Given the description of an element on the screen output the (x, y) to click on. 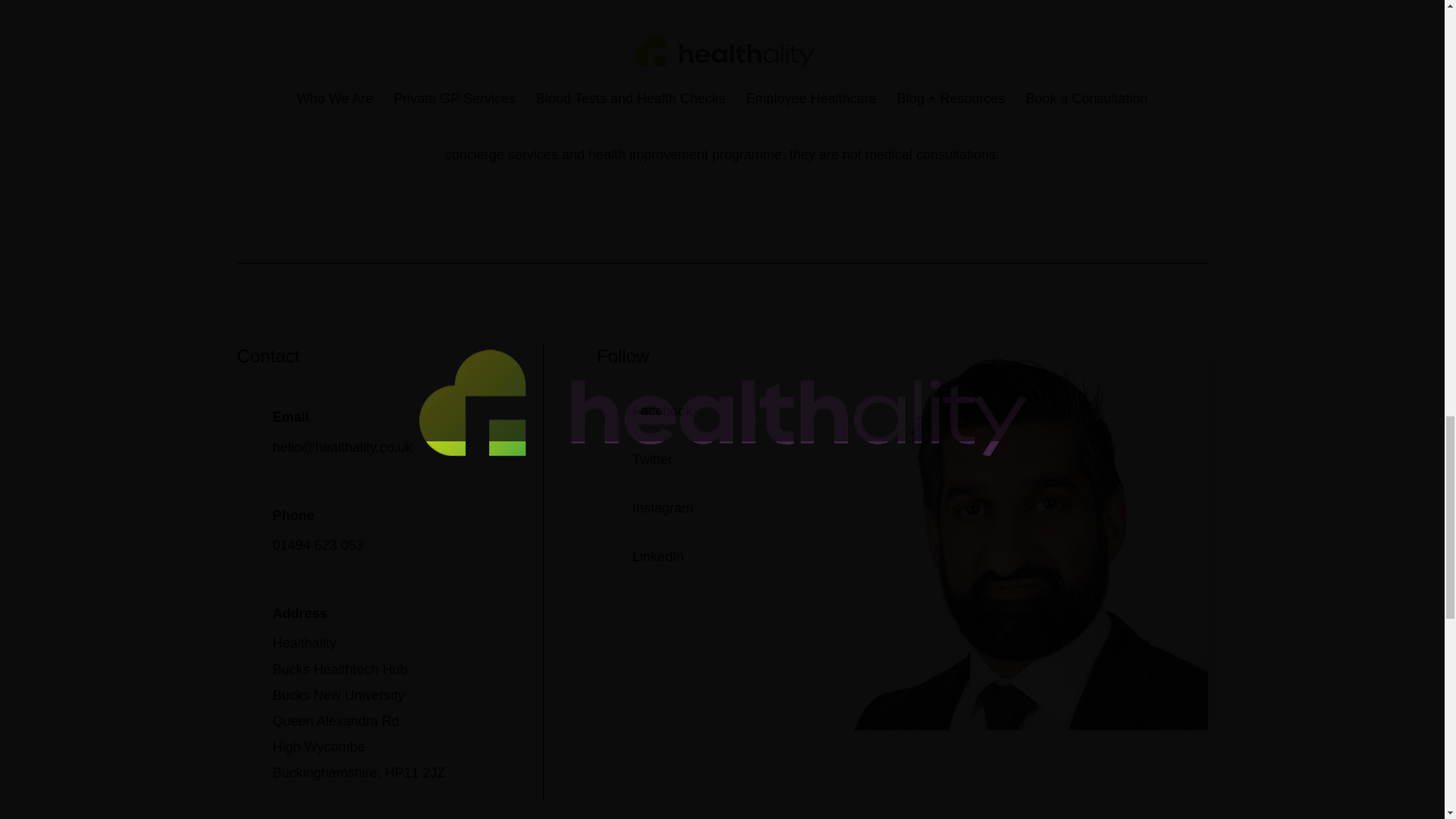
Email (290, 417)
01494 623 053 (318, 544)
adnan-1 (1015, 725)
